Given the description of an element on the screen output the (x, y) to click on. 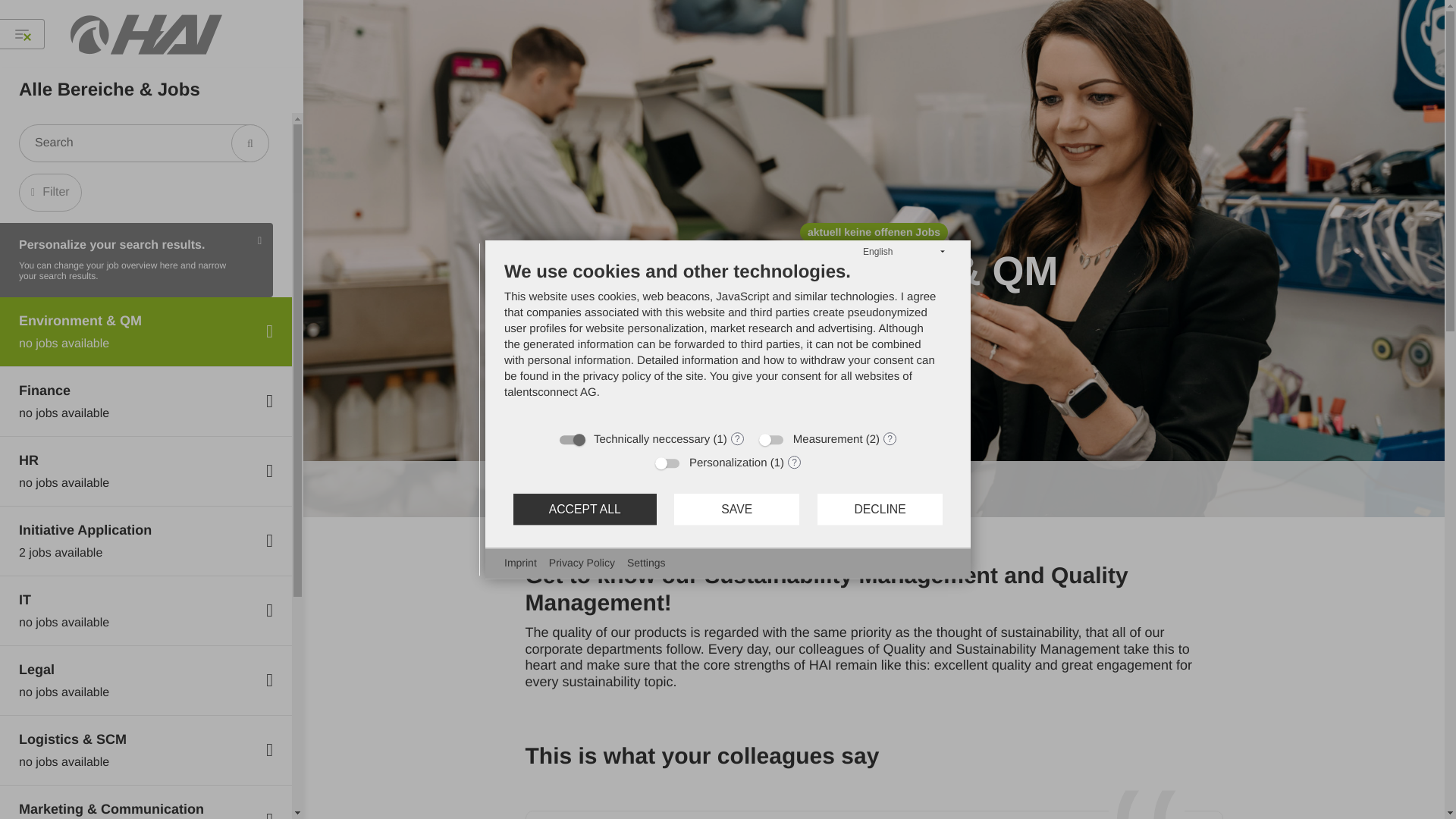
Save job category (873, 489)
back to start page of Hammerer Aluminium Industries (146, 541)
talentsconnect AG (146, 611)
Filter (146, 680)
Save job category (146, 401)
